Given the description of an element on the screen output the (x, y) to click on. 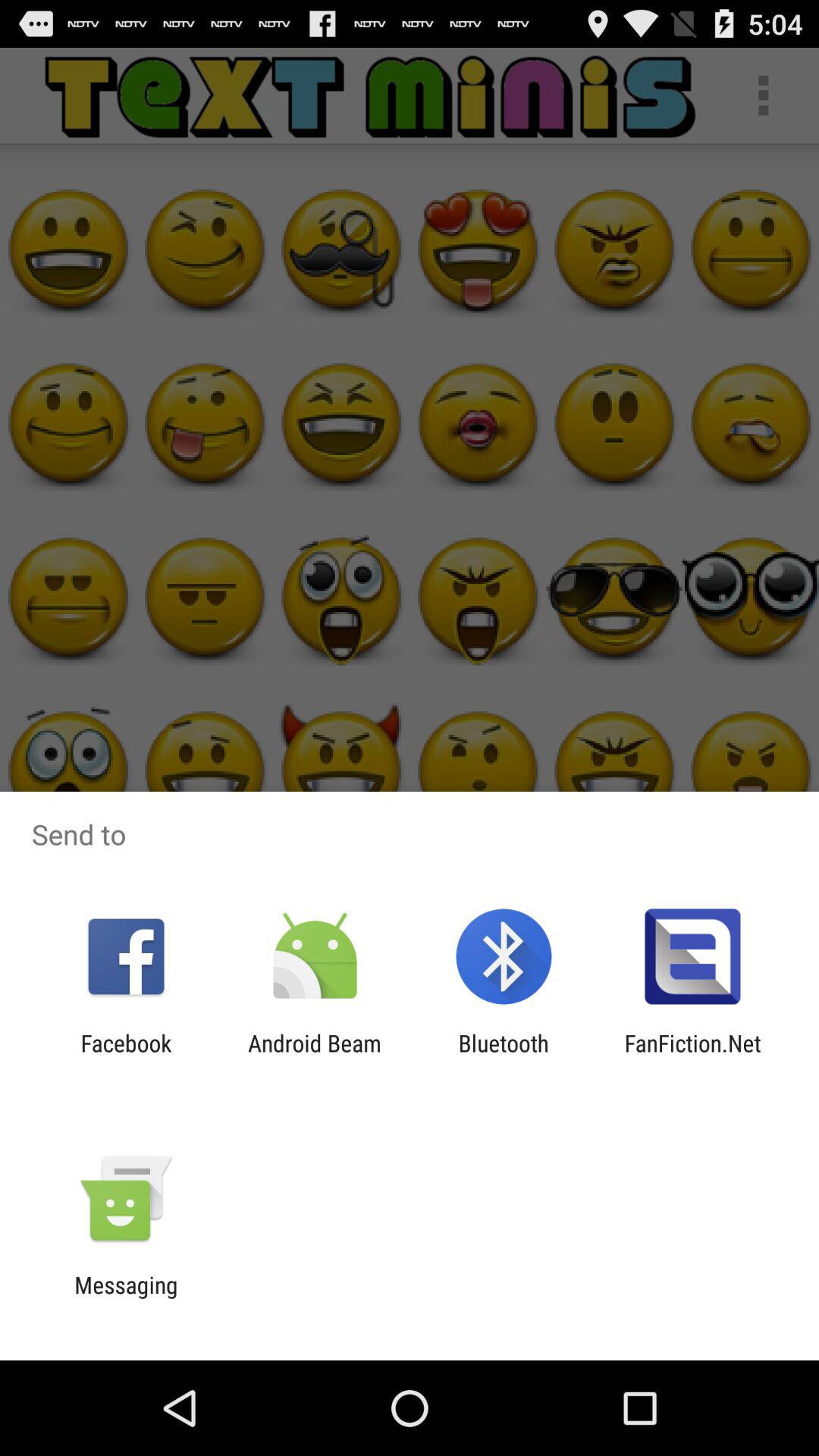
jump until the android beam app (314, 1056)
